Given the description of an element on the screen output the (x, y) to click on. 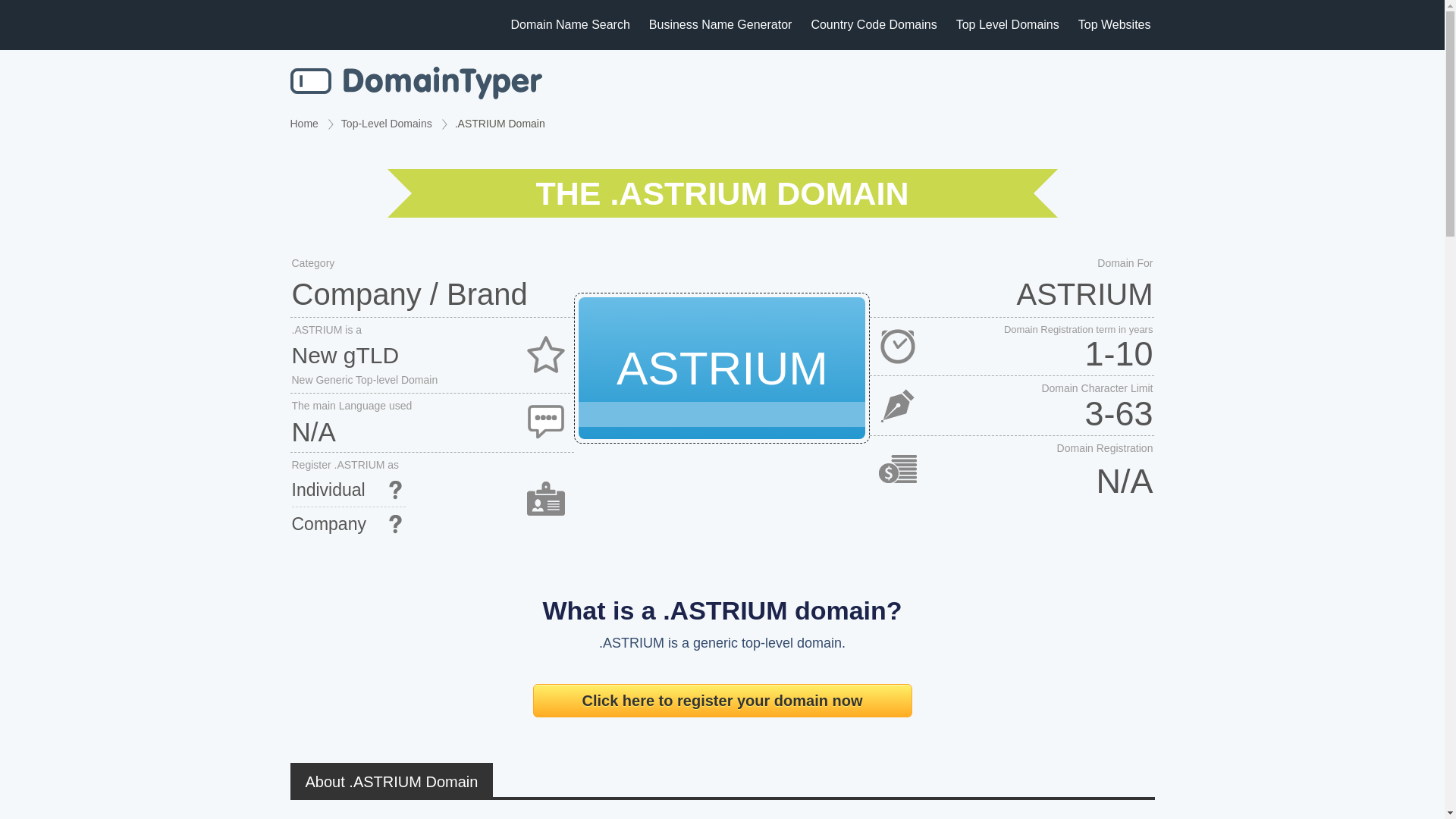
Domain Name Search (569, 24)
Business Name Generator (720, 24)
Top-Level Domains (386, 123)
Home (303, 123)
Country Code Domains (873, 24)
Top Websites (1114, 24)
Click here to register your domain now (721, 700)
Domain Name Search (415, 82)
Top Level Domains (1008, 24)
